Given the description of an element on the screen output the (x, y) to click on. 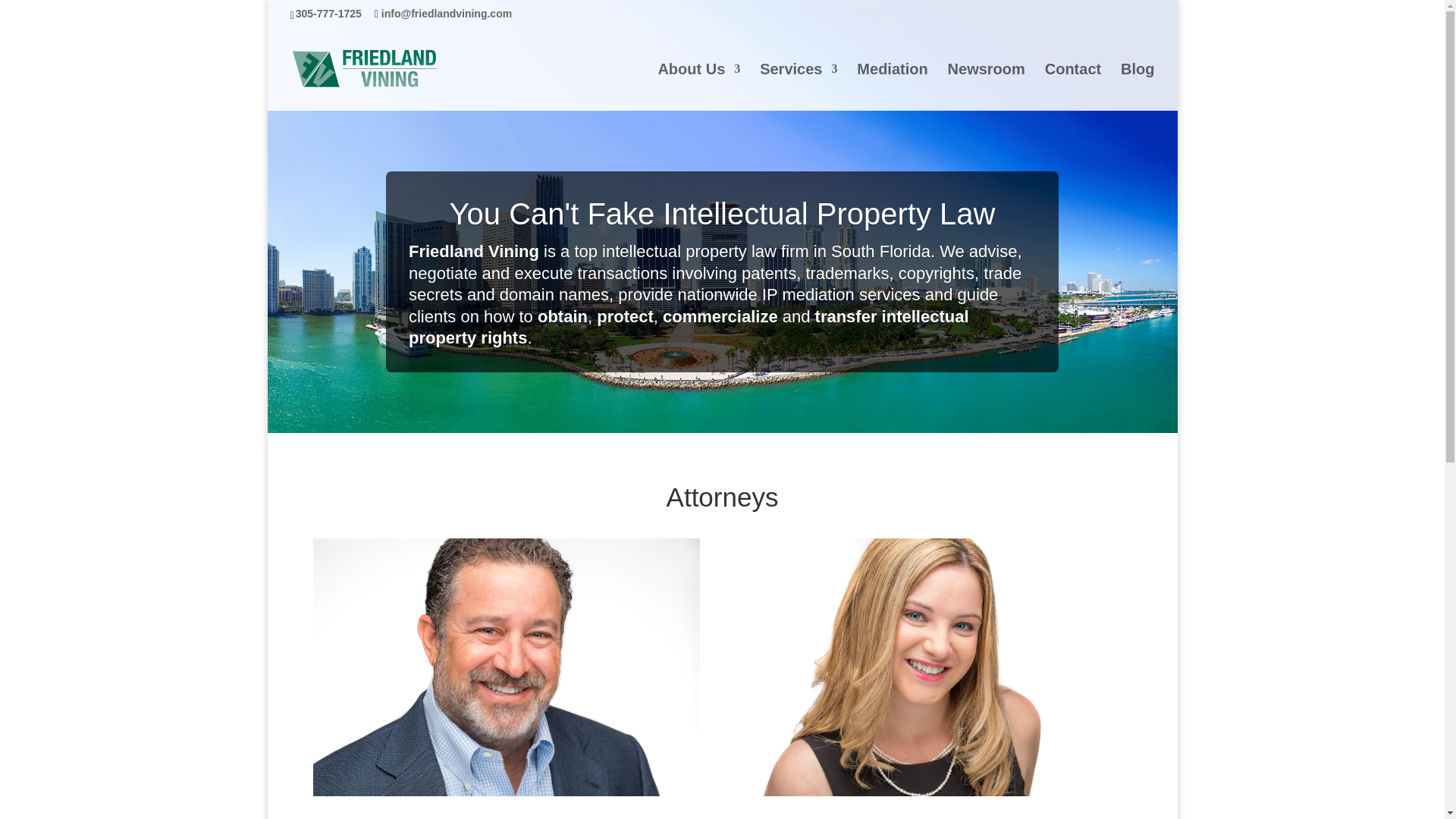
Mediation (892, 86)
Services (798, 86)
Jaime Vining (805, 818)
About Us (698, 86)
Contact (1072, 86)
Newsroom (986, 86)
